Given the description of an element on the screen output the (x, y) to click on. 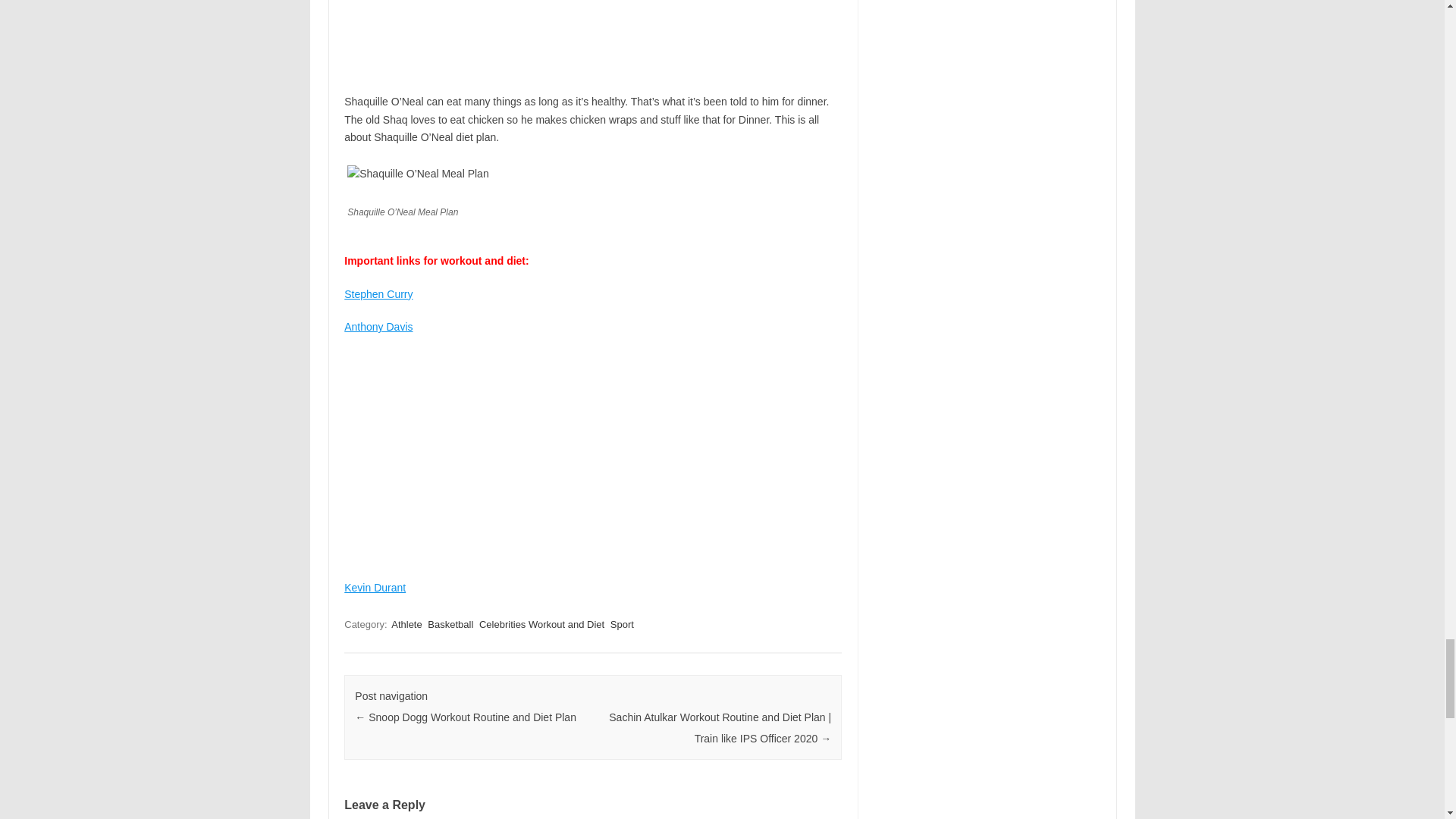
Kevin Durant (374, 587)
Athlete (406, 624)
Stephen Curry (377, 294)
Anthony Davis (377, 326)
Celebrities Workout and Diet (541, 624)
Basketball (450, 624)
Sport (621, 624)
